Given the description of an element on the screen output the (x, y) to click on. 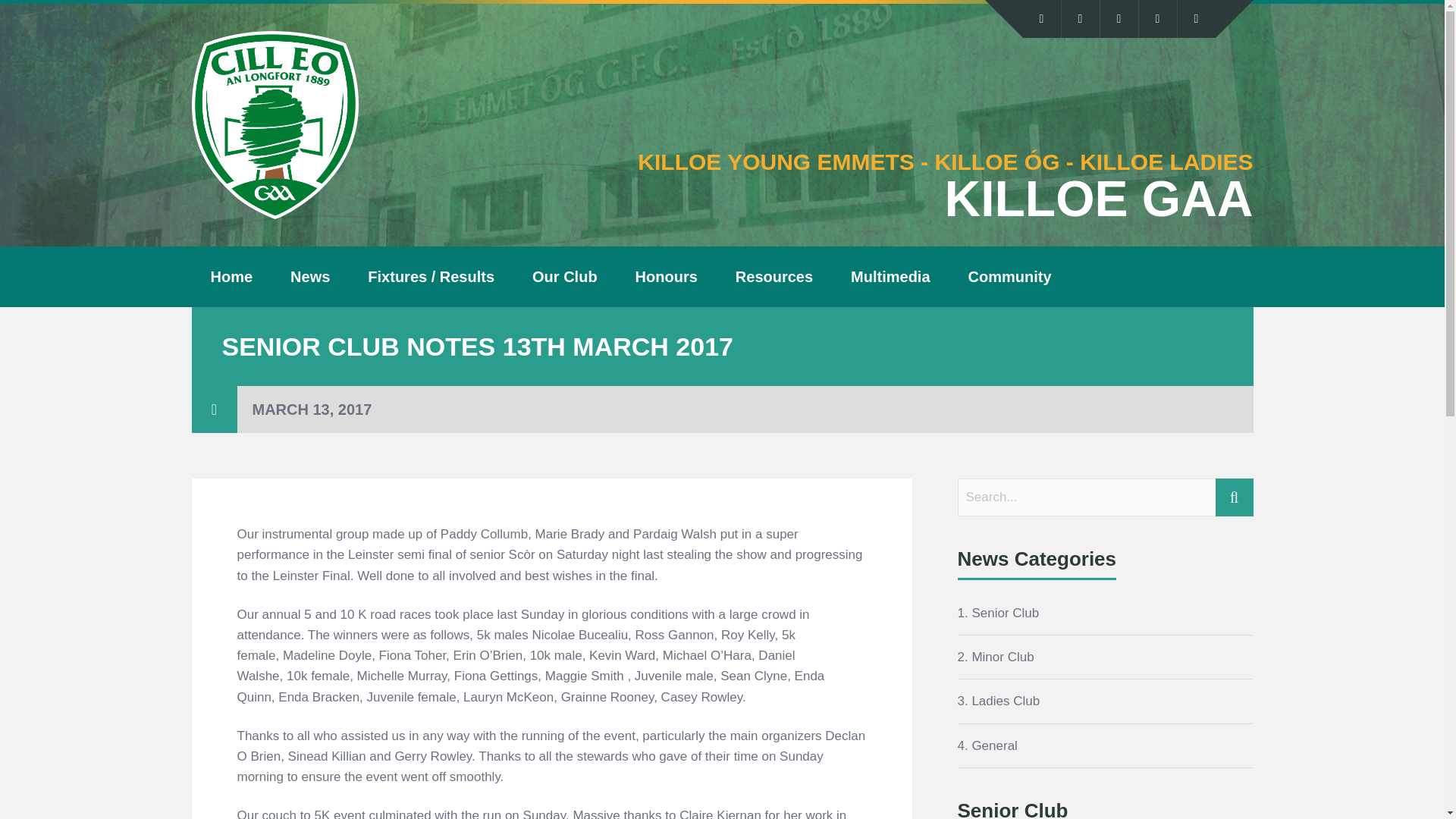
Our Club (564, 276)
Honours (665, 276)
